Given the description of an element on the screen output the (x, y) to click on. 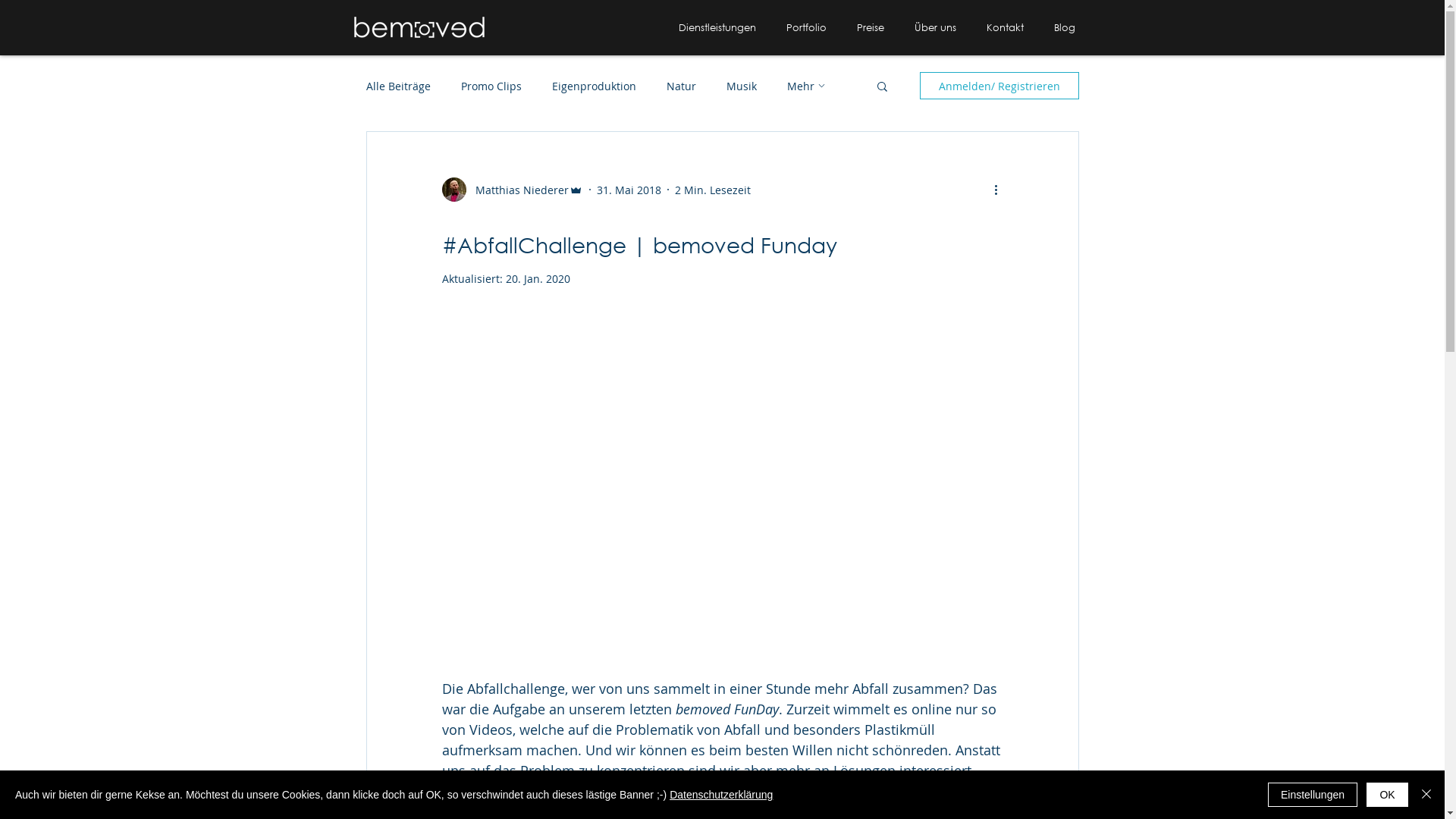
Kontakt Element type: text (1004, 27)
Natur Element type: text (680, 85)
Logo_bemoved_white_mit_Rand.png Element type: hover (418, 26)
Blog Element type: text (1064, 27)
Preise Element type: text (870, 27)
Musik Element type: text (741, 85)
Anmelden/ Registrieren Element type: text (998, 85)
Eigenproduktion Element type: text (594, 85)
Promo Clips Element type: text (491, 85)
OK Element type: text (1387, 794)
Portfolio Element type: text (805, 27)
Einstellungen Element type: text (1312, 794)
